Given the description of an element on the screen output the (x, y) to click on. 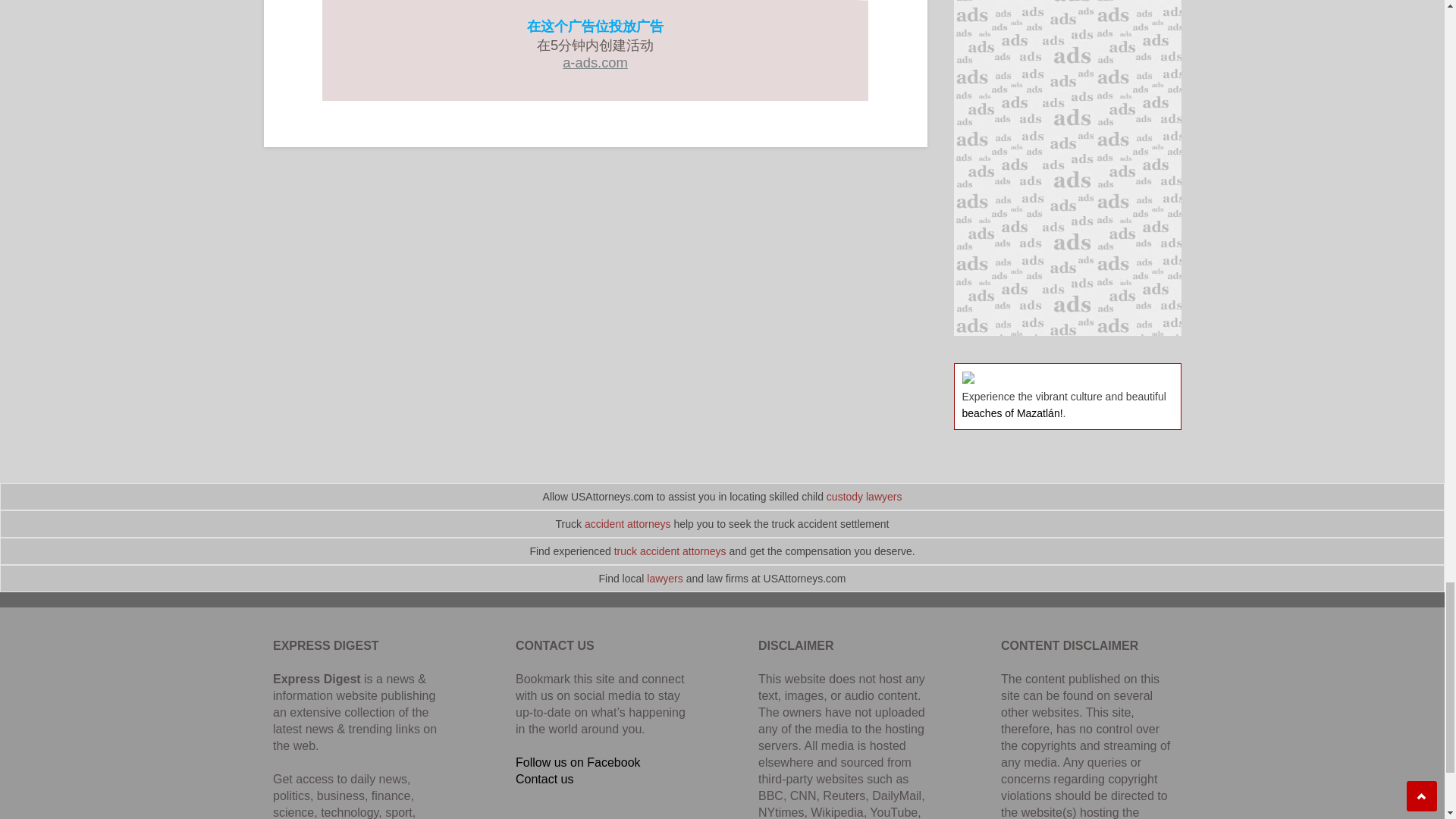
lawyers (664, 578)
custody lawyers (864, 496)
truck accident attorneys (670, 551)
accident attorneys (628, 523)
